Given the description of an element on the screen output the (x, y) to click on. 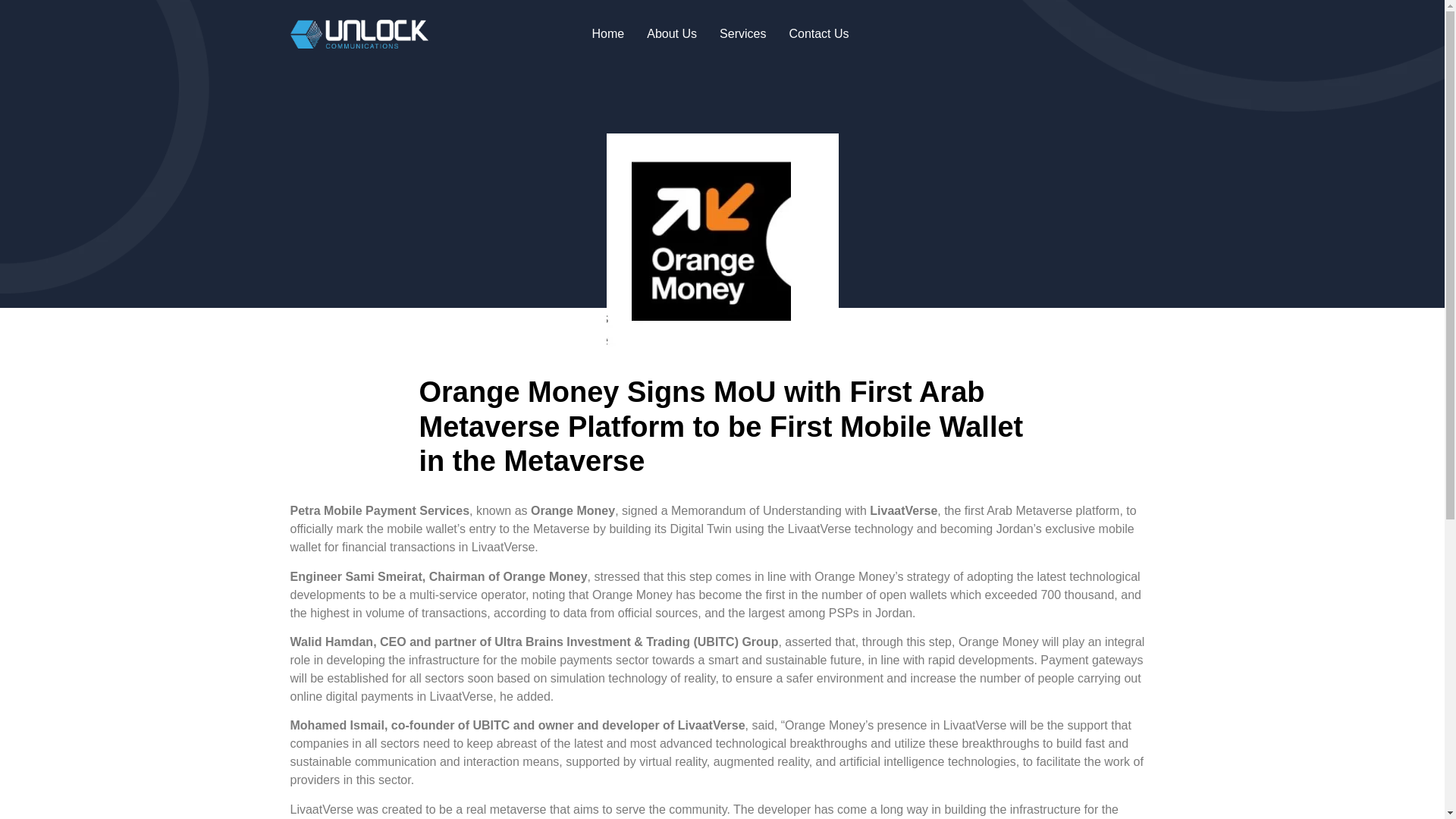
Services (742, 34)
Home (608, 34)
Contact Us (818, 34)
About Us (670, 34)
